Given the description of an element on the screen output the (x, y) to click on. 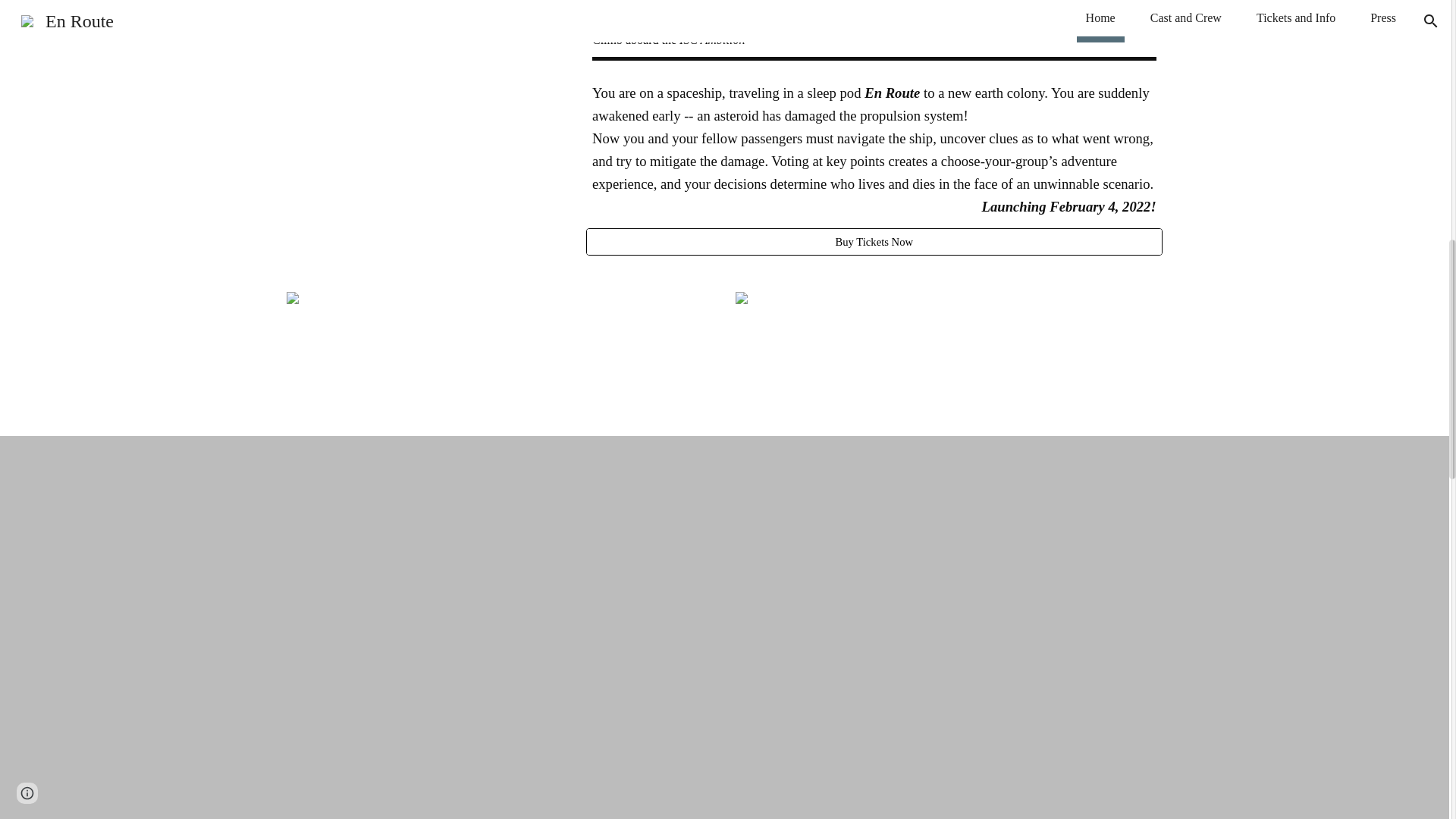
Buy Tickets Now (873, 241)
